Given the description of an element on the screen output the (x, y) to click on. 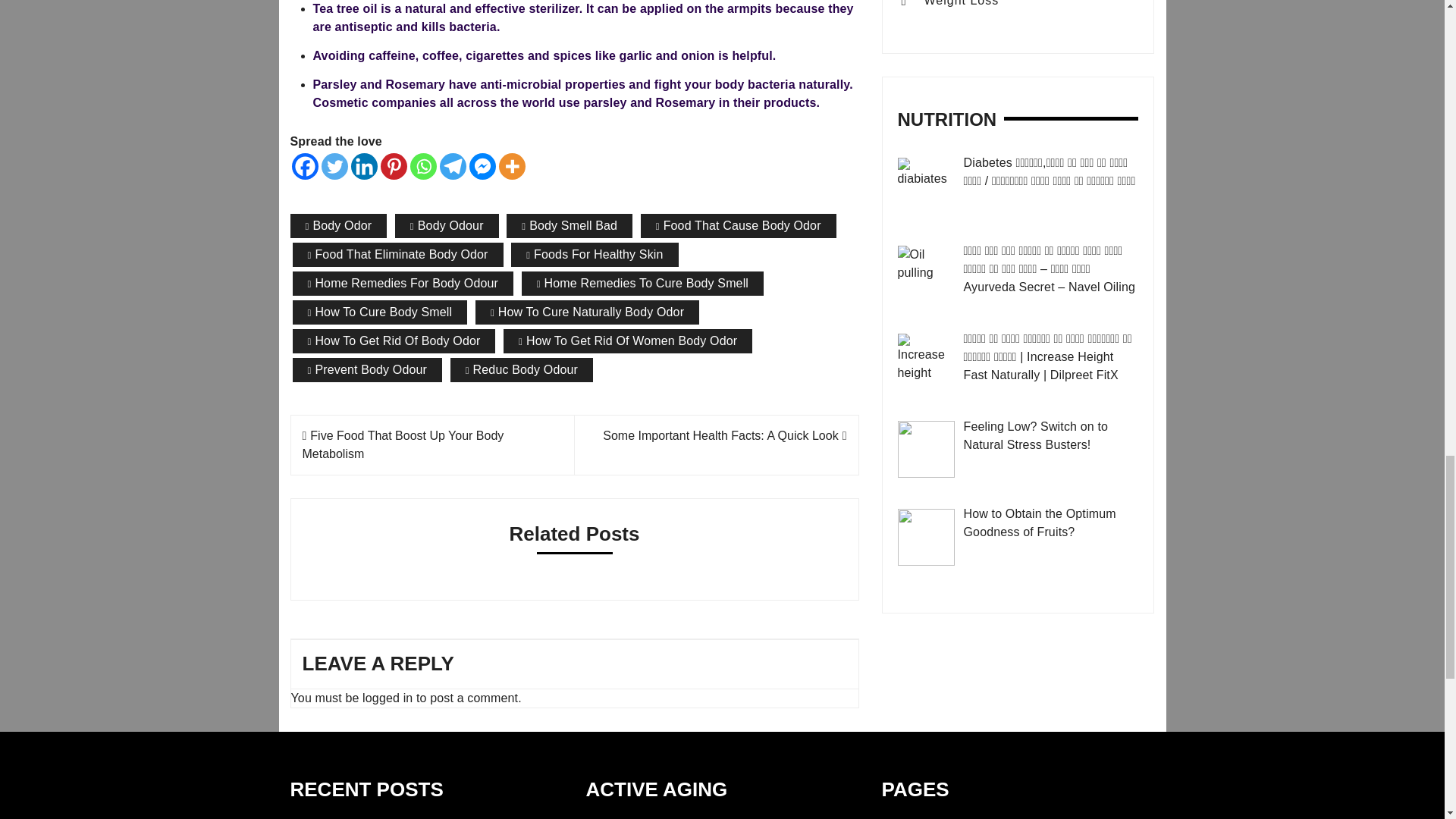
How To Cure Body Smell (379, 312)
Body Odour (446, 225)
How To Cure Naturally Body Odor (587, 312)
Pinterest (393, 166)
Some Important Health Facts: A Quick Look (723, 435)
Reduc Body Odour (520, 369)
How To Get Rid Of Women Body Odor (627, 340)
Food That Cause Body Odor (737, 225)
Facebook (304, 166)
How To Get Rid Of Body Odor (394, 340)
